Given the description of an element on the screen output the (x, y) to click on. 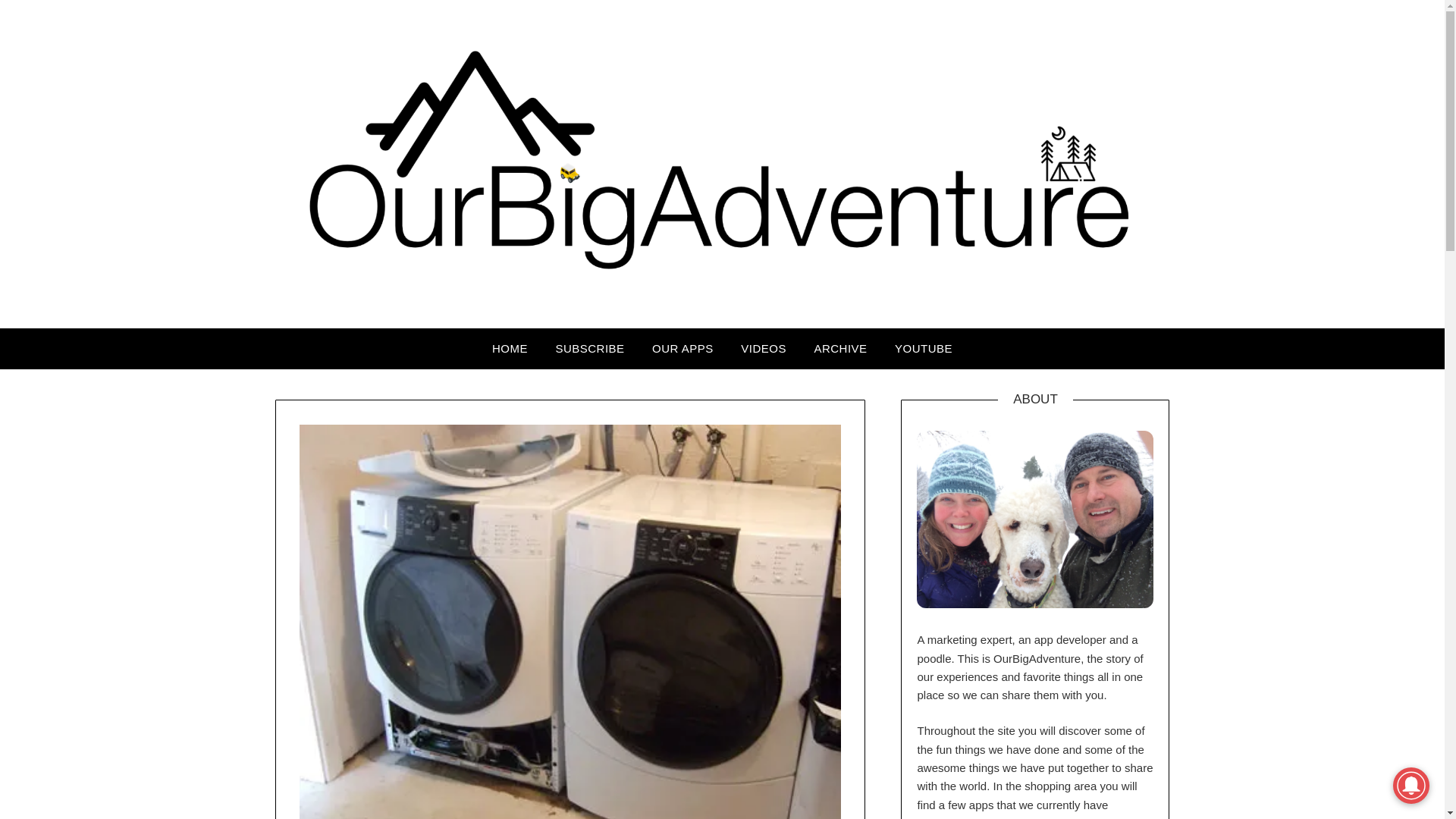
SUBSCRIBE (589, 348)
OUR APPS (682, 348)
YOUTUBE (922, 348)
Search (38, 22)
ARCHIVE (840, 348)
HOME (510, 348)
VIDEOS (763, 348)
